Given the description of an element on the screen output the (x, y) to click on. 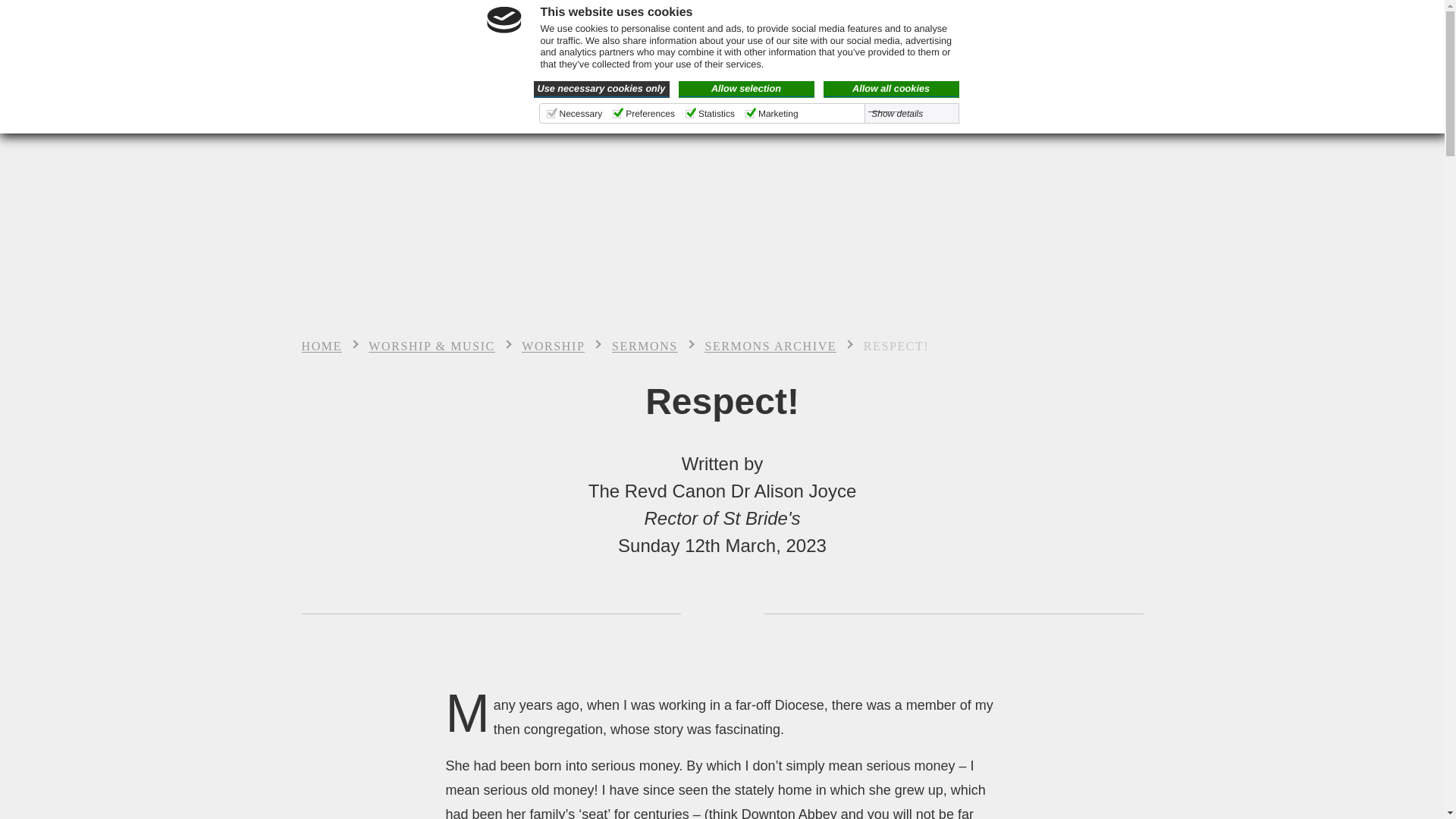
Use necessary cookies only (601, 89)
Allow selection (745, 89)
Allow all cookies (891, 89)
Show details (903, 113)
